Given the description of an element on the screen output the (x, y) to click on. 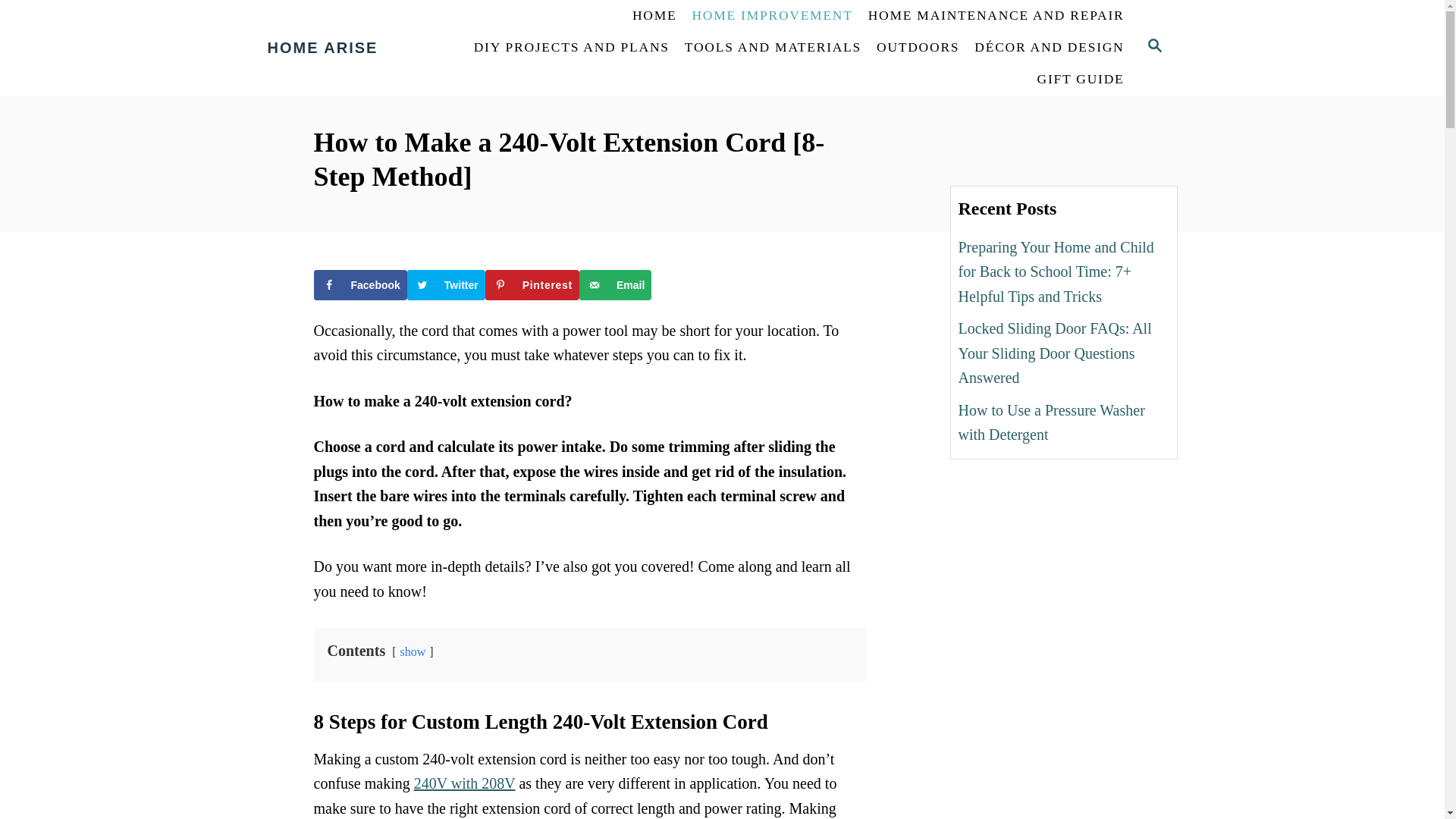
DIY PROJECTS AND PLANS (571, 47)
OUTDOORS (917, 47)
Share on Twitter (445, 285)
HOME ARISE (354, 47)
TOOLS AND MATERIALS (773, 47)
HOME IMPROVEMENT (772, 15)
Share on Facebook (360, 285)
HOME (654, 15)
HOME MAINTENANCE AND REPAIR (996, 15)
SEARCH (1153, 47)
